Given the description of an element on the screen output the (x, y) to click on. 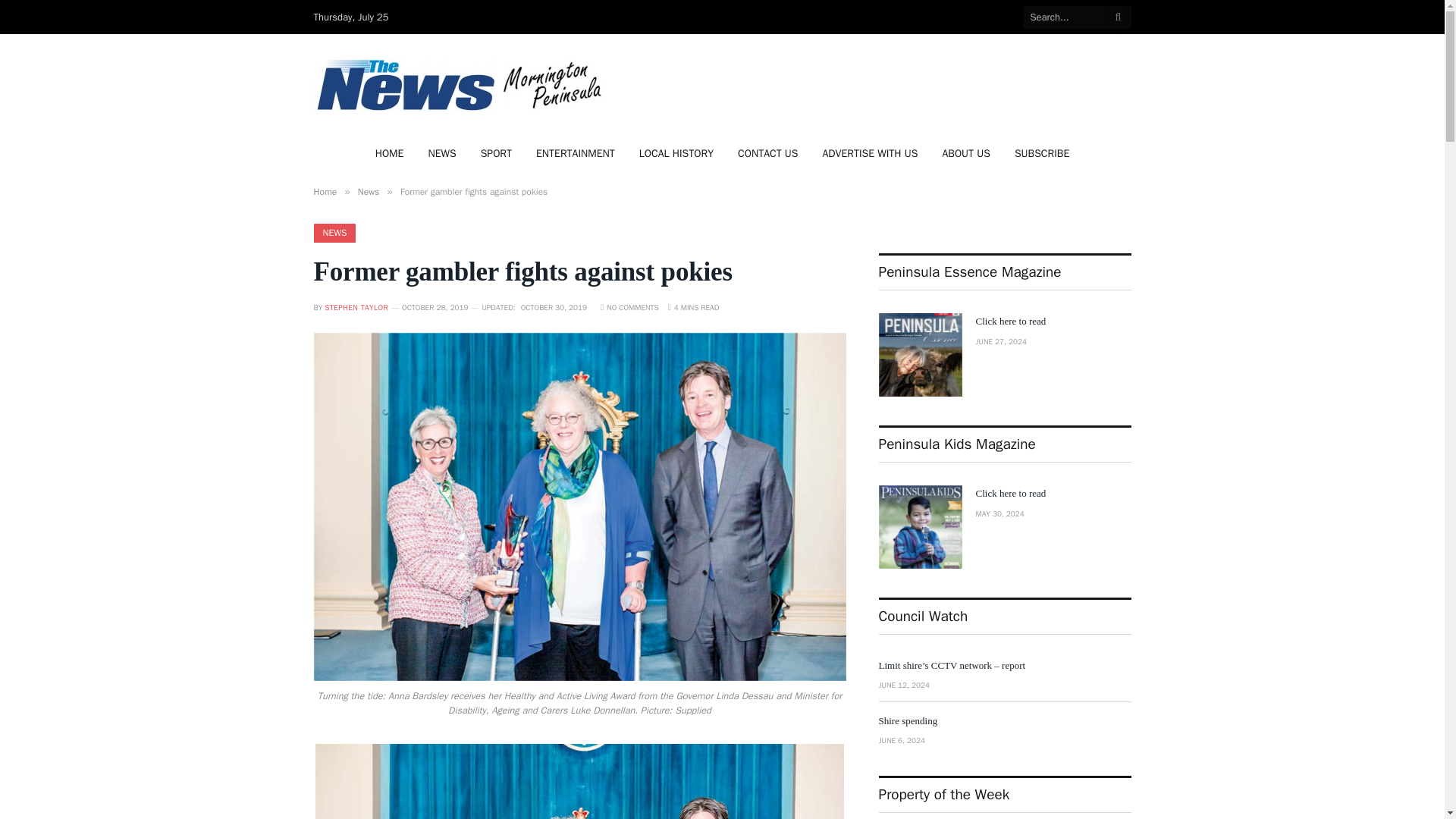
SPORT (496, 153)
LOCAL HISTORY (676, 153)
NEWS (335, 232)
ADVERTISE WITH US (869, 153)
Home (325, 191)
SUBSCRIBE (1042, 153)
MPNEWS (462, 84)
ENTERTAINMENT (575, 153)
Posts by Stephen Taylor (356, 307)
ABOUT US (966, 153)
NEWS (440, 153)
HOME (389, 153)
CONTACT US (767, 153)
News (369, 191)
